Given the description of an element on the screen output the (x, y) to click on. 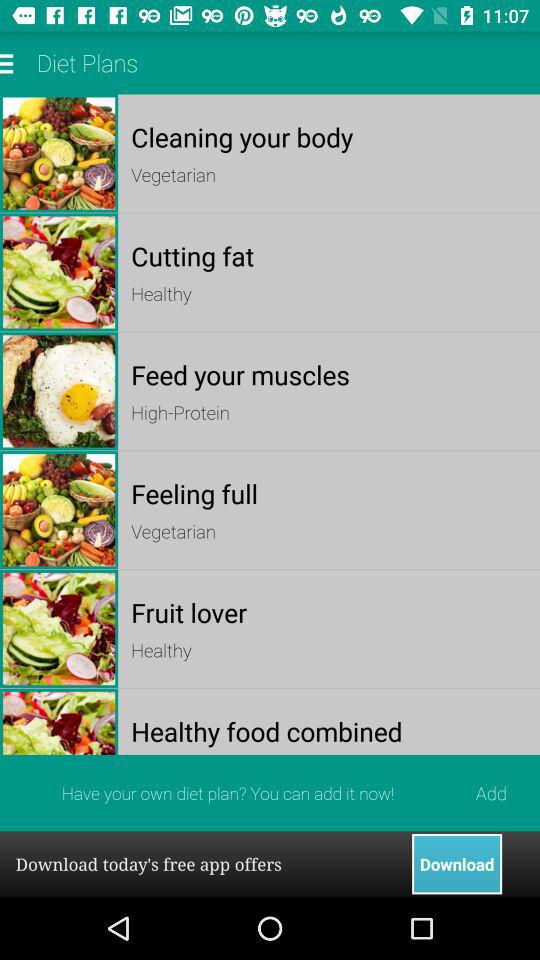
choose feeling full (328, 493)
